Given the description of an element on the screen output the (x, y) to click on. 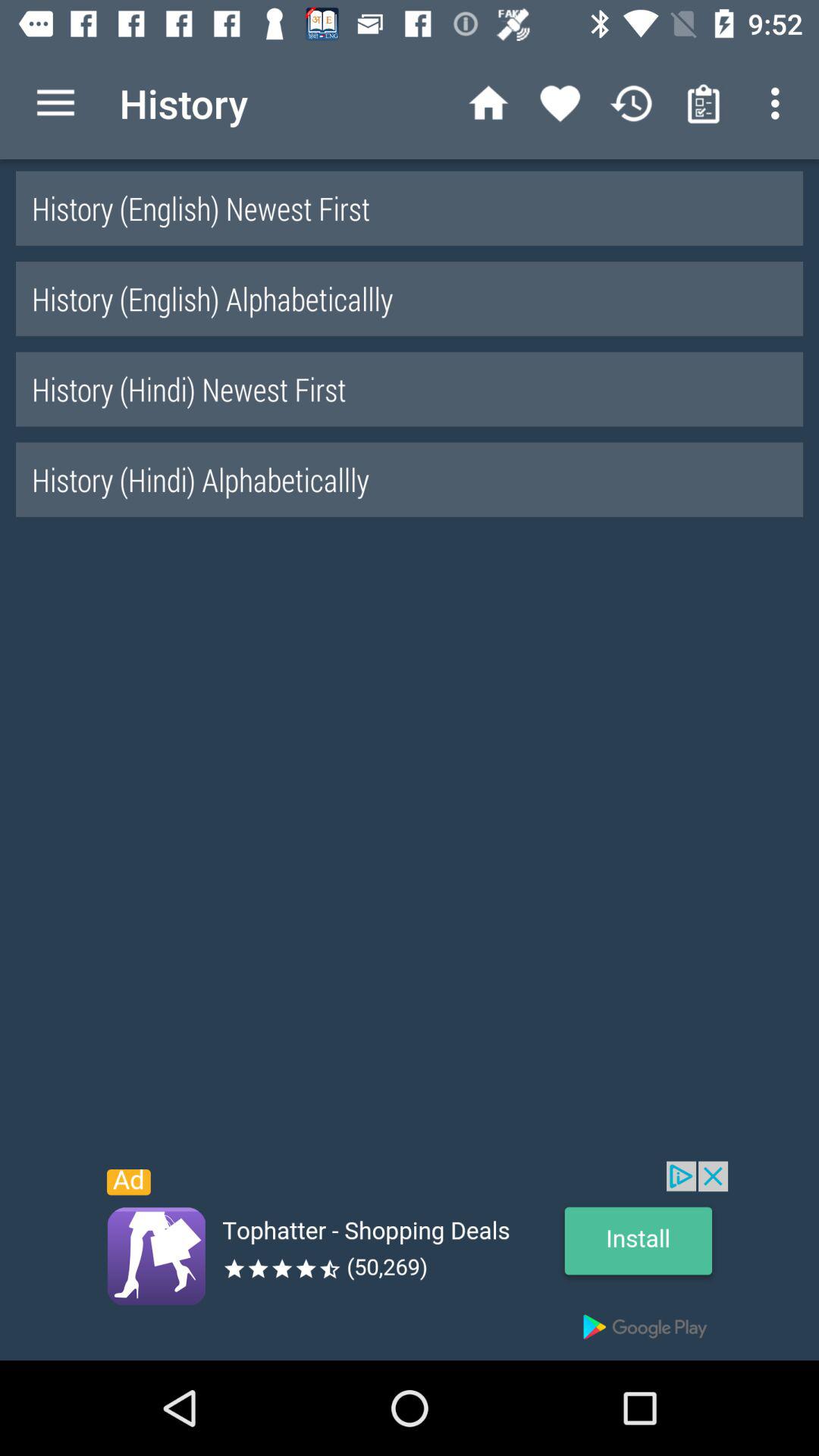
advertisement (409, 1260)
